Given the description of an element on the screen output the (x, y) to click on. 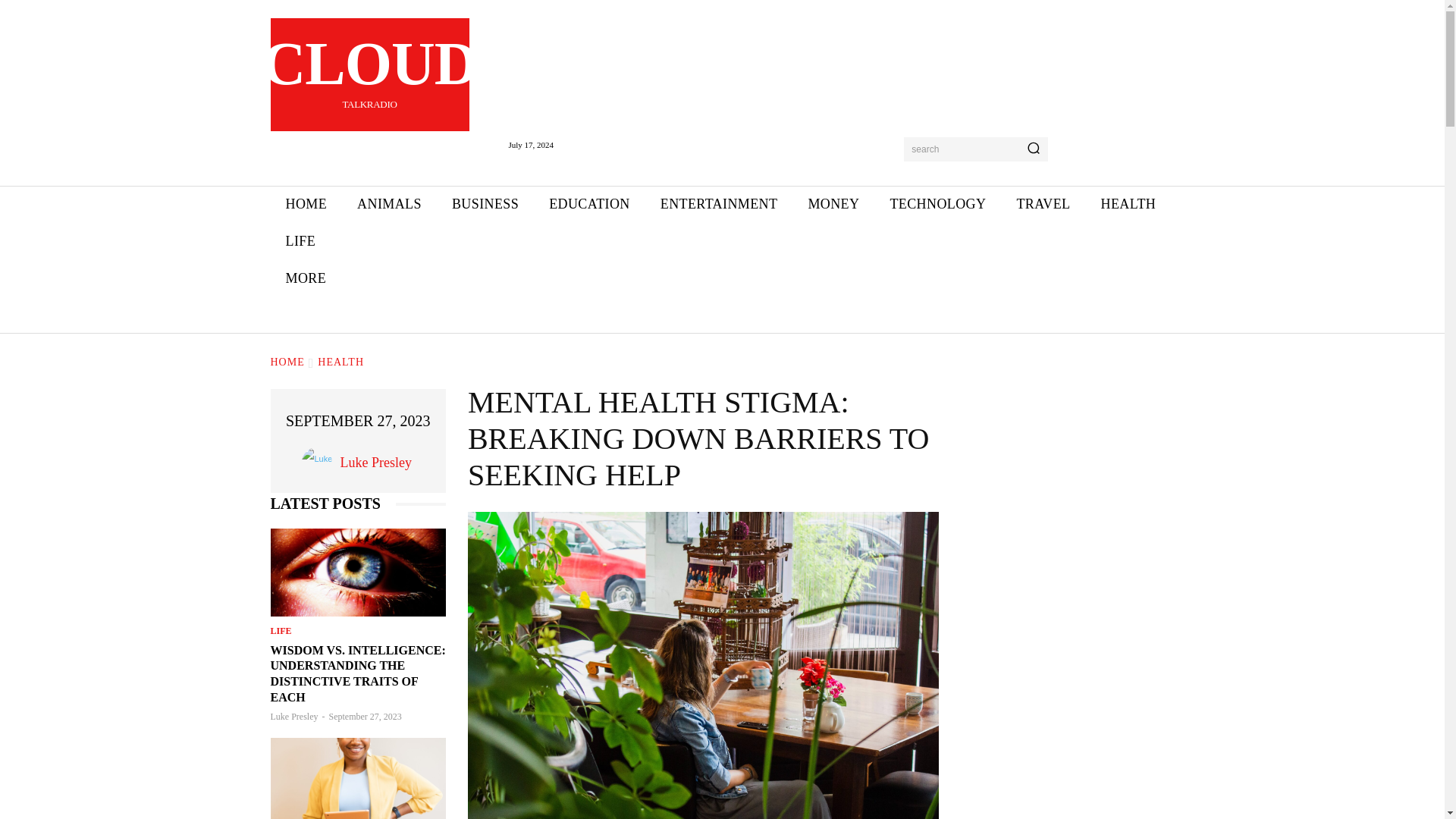
TRAVEL (1042, 203)
MONEY (368, 74)
ANIMALS (833, 203)
ENTERTAINMENT (389, 203)
BUSINESS (719, 203)
HOME (485, 203)
EDUCATION (305, 203)
LIFE (589, 203)
HEALTH (299, 241)
Luke Presley (1127, 203)
View all posts in Health (320, 462)
TECHNOLOGY (340, 361)
